Given the description of an element on the screen output the (x, y) to click on. 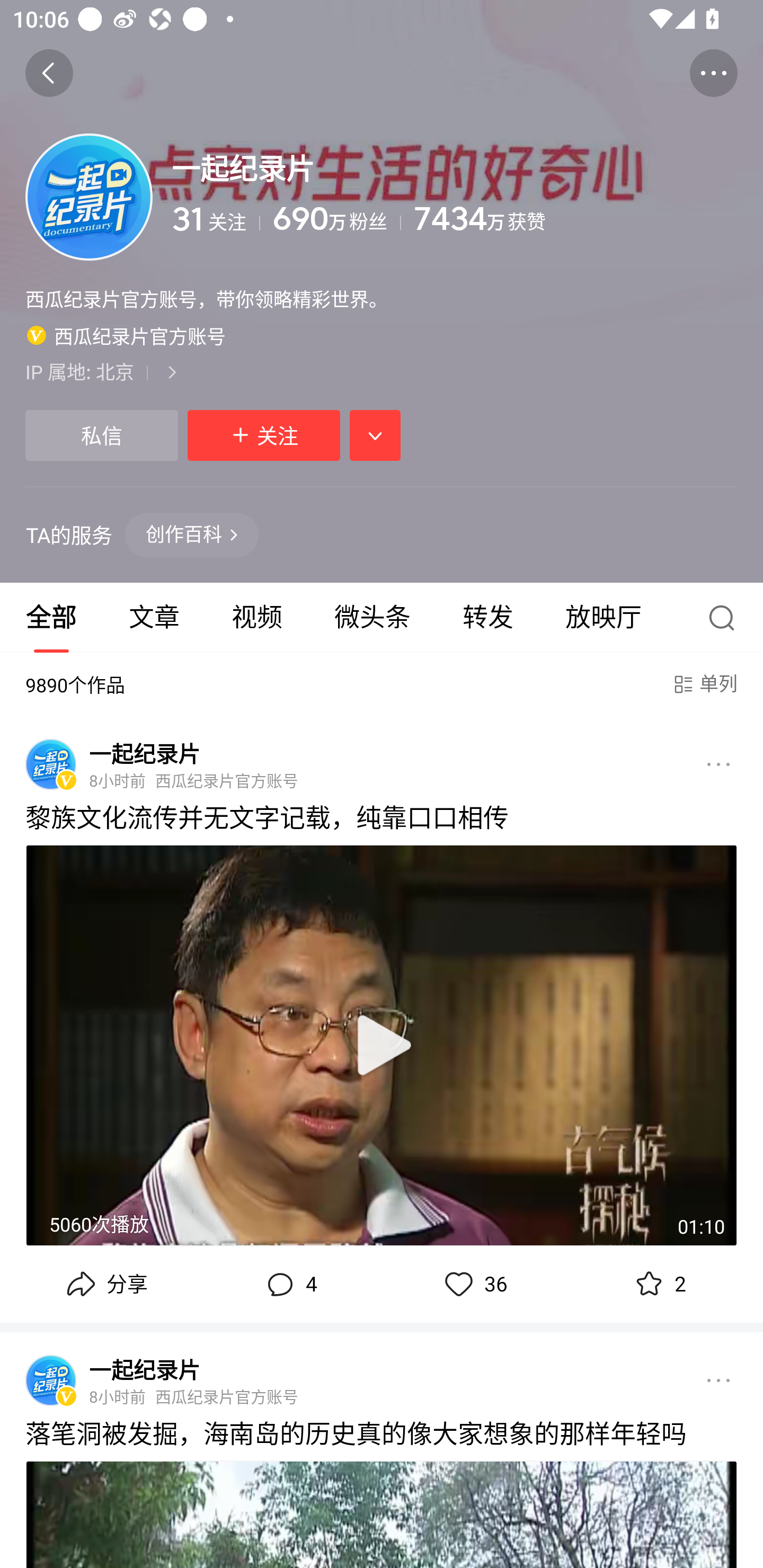
返回 (49, 72)
更多操作 (713, 72)
头像 (88, 196)
31 关注 (215, 219)
690万 粉丝 (336, 219)
7434万 获赞 (575, 219)
西瓜纪录片官方账号 (125, 335)
IP 属地: 北京 (381, 371)
私信 (101, 434)
     关注 (263, 434)
展开相关推荐，按钮 (374, 434)
创作百科 (191, 534)
全部 (51, 617)
文章 (154, 617)
视频 (256, 617)
微头条 (372, 617)
转发 (487, 617)
放映厅 (603, 617)
搜索 (726, 617)
单列 当前单列点按切换至双列 (703, 684)
一起纪录片头像 一起纪录片 8小时前 西瓜纪录片官方账号 更多 (381, 758)
一起纪录片 (144, 753)
一起纪录片头像 (50, 764)
更多 (718, 764)
分享 (104, 1284)
评论,4 4 (288, 1284)
收藏,2 2 (658, 1284)
一起纪录片头像 一起纪录片 8小时前 西瓜纪录片官方账号 更多 (381, 1374)
一起纪录片 (144, 1369)
一起纪录片头像 (50, 1380)
更多 (718, 1380)
